Given the description of an element on the screen output the (x, y) to click on. 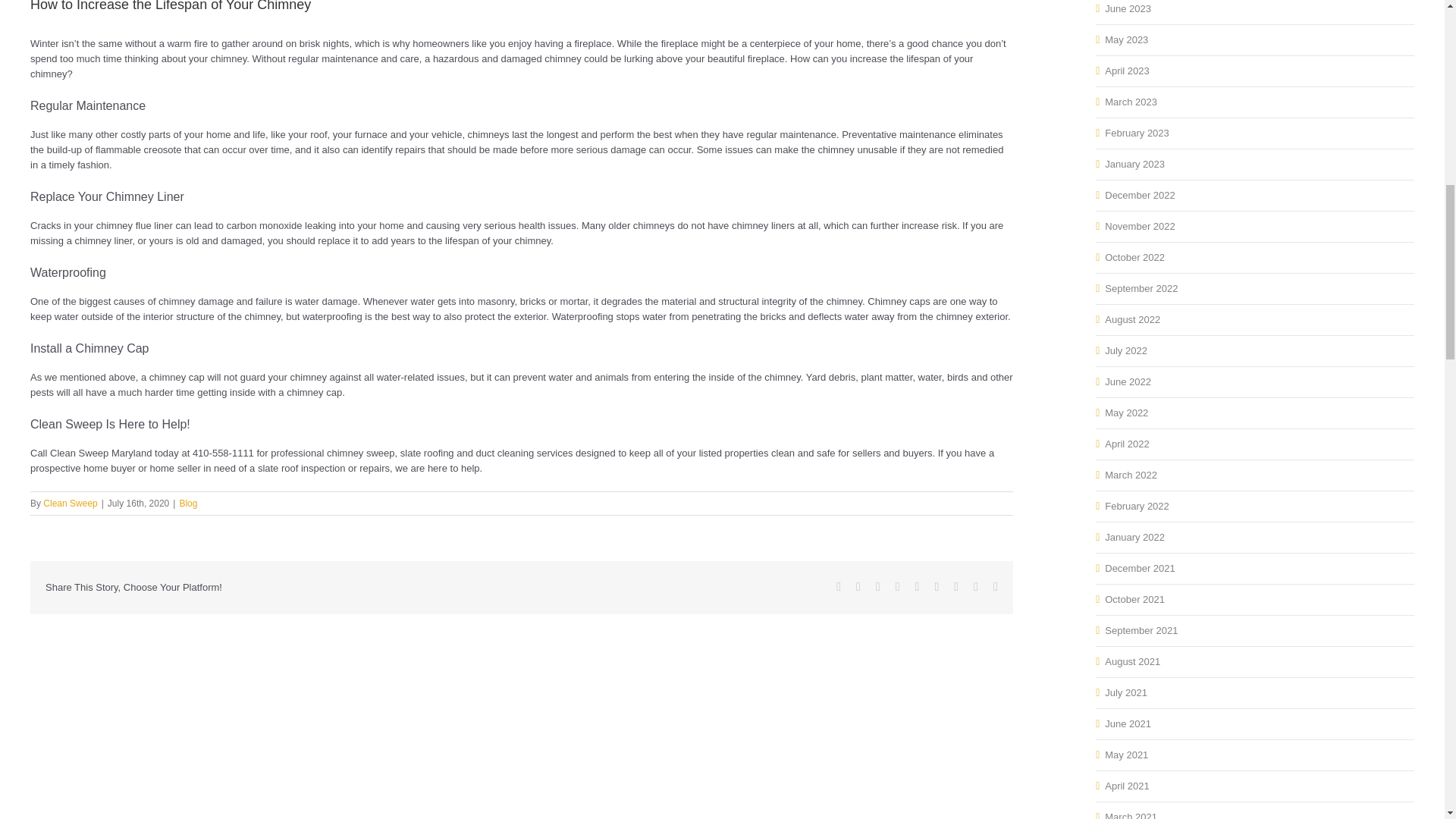
Posts by Clean Sweep (70, 502)
Clean Sweep (70, 502)
Blog (187, 502)
